Given the description of an element on the screen output the (x, y) to click on. 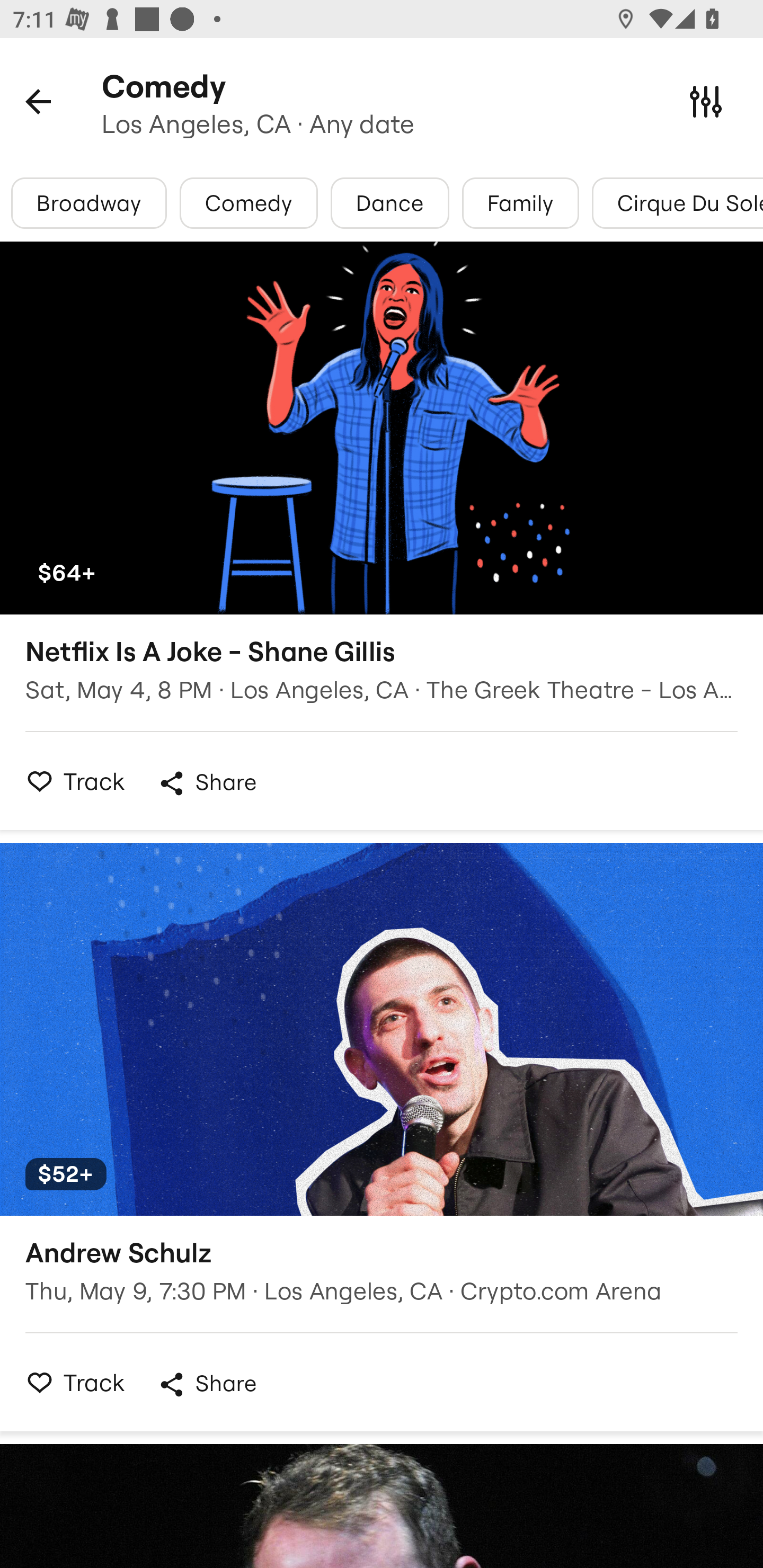
Back (38, 100)
Filters (705, 100)
Broadway (89, 202)
Comedy (248, 202)
Dance (389, 202)
Family (520, 202)
Cirque Du Soleil (677, 202)
Track (70, 780)
Share (207, 783)
Track (70, 1381)
Share (207, 1384)
